Given the description of an element on the screen output the (x, y) to click on. 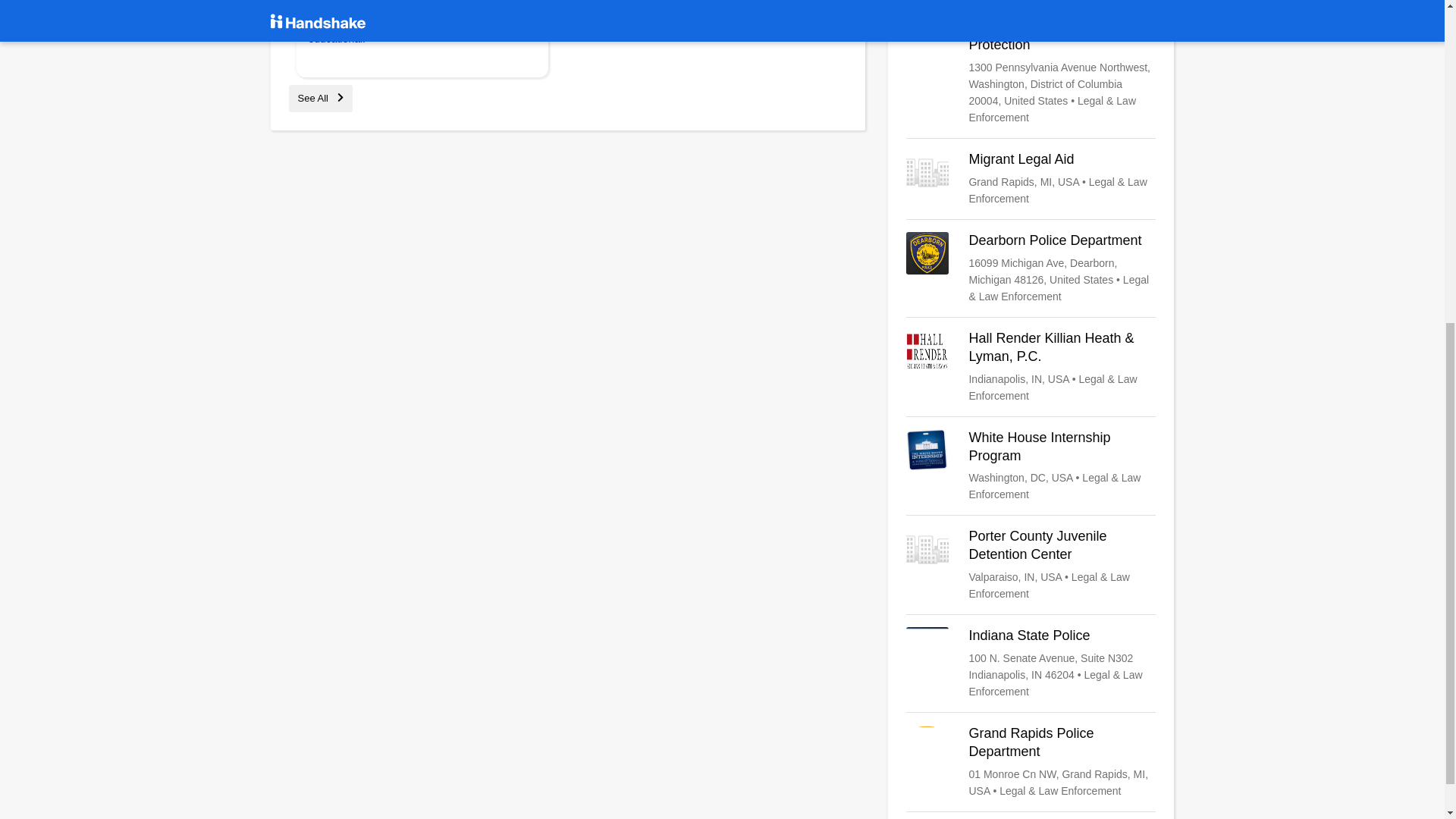
U.S. Customs and Border Protection (1030, 72)
Porter County Juvenile Detention Center (1030, 564)
Migrant Legal Aid (1030, 178)
Grand Rapids Police Department (1030, 761)
Dearborn Police Department (1030, 267)
White House Internship Program (1030, 466)
Indiana State Police (1030, 663)
Evan Guthrie Law Firm (1030, 2)
See All (320, 98)
